Given the description of an element on the screen output the (x, y) to click on. 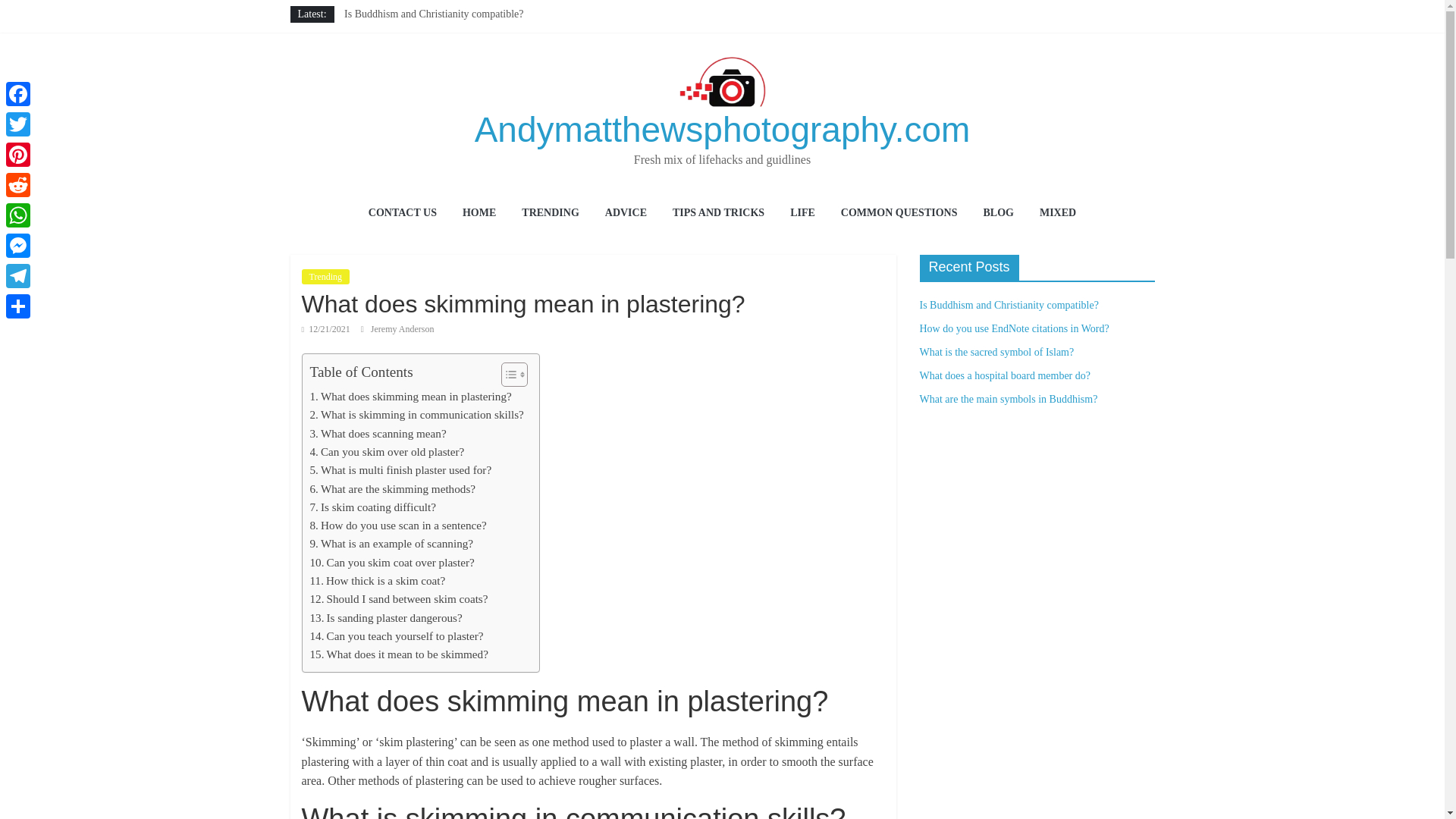
Is skim coating difficult? (371, 506)
What are the skimming methods? (392, 488)
MIXED (1057, 213)
TIPS AND TRICKS (718, 213)
Can you skim over old plaster? (386, 452)
What is multi finish plaster used for? (400, 470)
What does a hospital board member do? (429, 64)
Jeremy Anderson (402, 328)
HOME (478, 213)
What is an example of scanning? (390, 543)
What is skimming in communication skills? (415, 414)
Is Buddhism and Christianity compatible? (432, 13)
What is the sacred symbol of Islam? (421, 48)
Andymatthewsphotography.com (722, 129)
What does scanning mean? (376, 434)
